Given the description of an element on the screen output the (x, y) to click on. 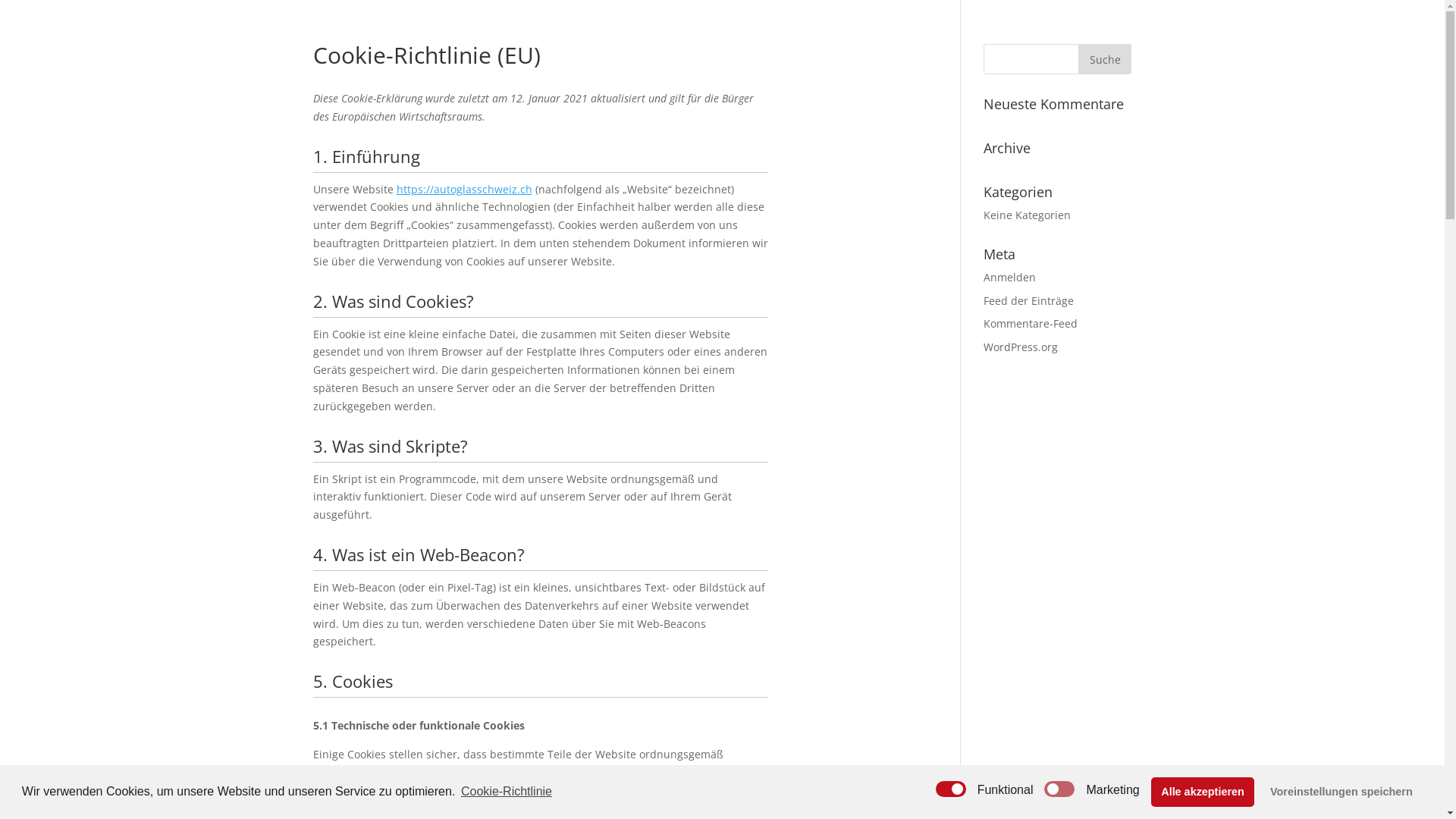
WordPress.org Element type: text (1020, 346)
Kommentare-Feed Element type: text (1030, 323)
Anmelden Element type: text (1009, 276)
Voreinstellungen speichern Element type: text (1341, 791)
Alle akzeptieren Element type: text (1203, 791)
Suche Element type: text (1104, 58)
Cookie-Richtlinie Element type: text (505, 791)
https://autoglasschweiz.ch Element type: text (463, 189)
